Given the description of an element on the screen output the (x, y) to click on. 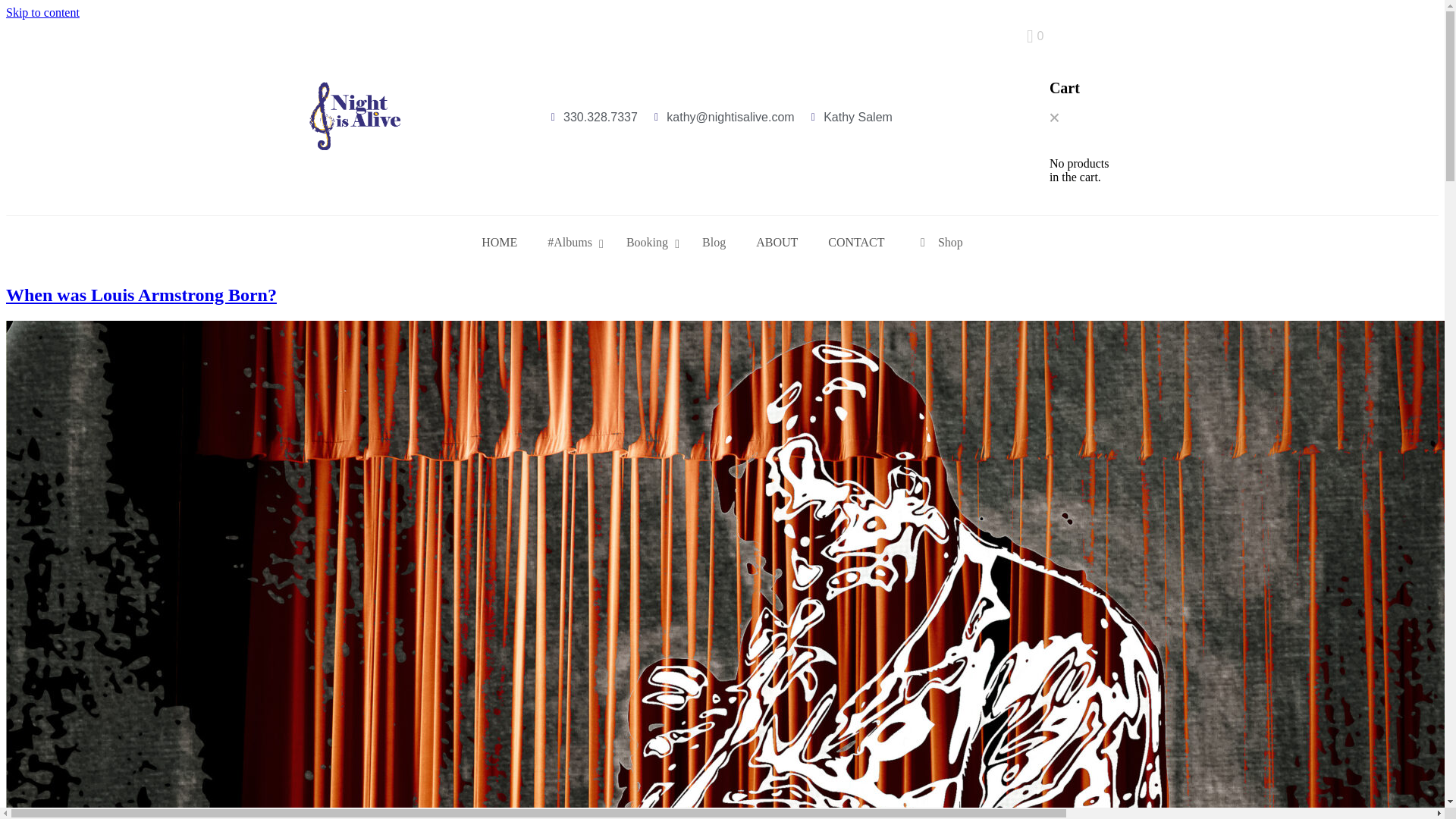
ABOUT (776, 242)
Booking (649, 242)
0 (1034, 36)
CONTACT (855, 242)
When was Louis Armstrong Born? (140, 294)
HOME (498, 242)
Skip to content (42, 11)
When was Louis Armstrong Born? (140, 294)
Shop (938, 242)
Blog (714, 242)
